Given the description of an element on the screen output the (x, y) to click on. 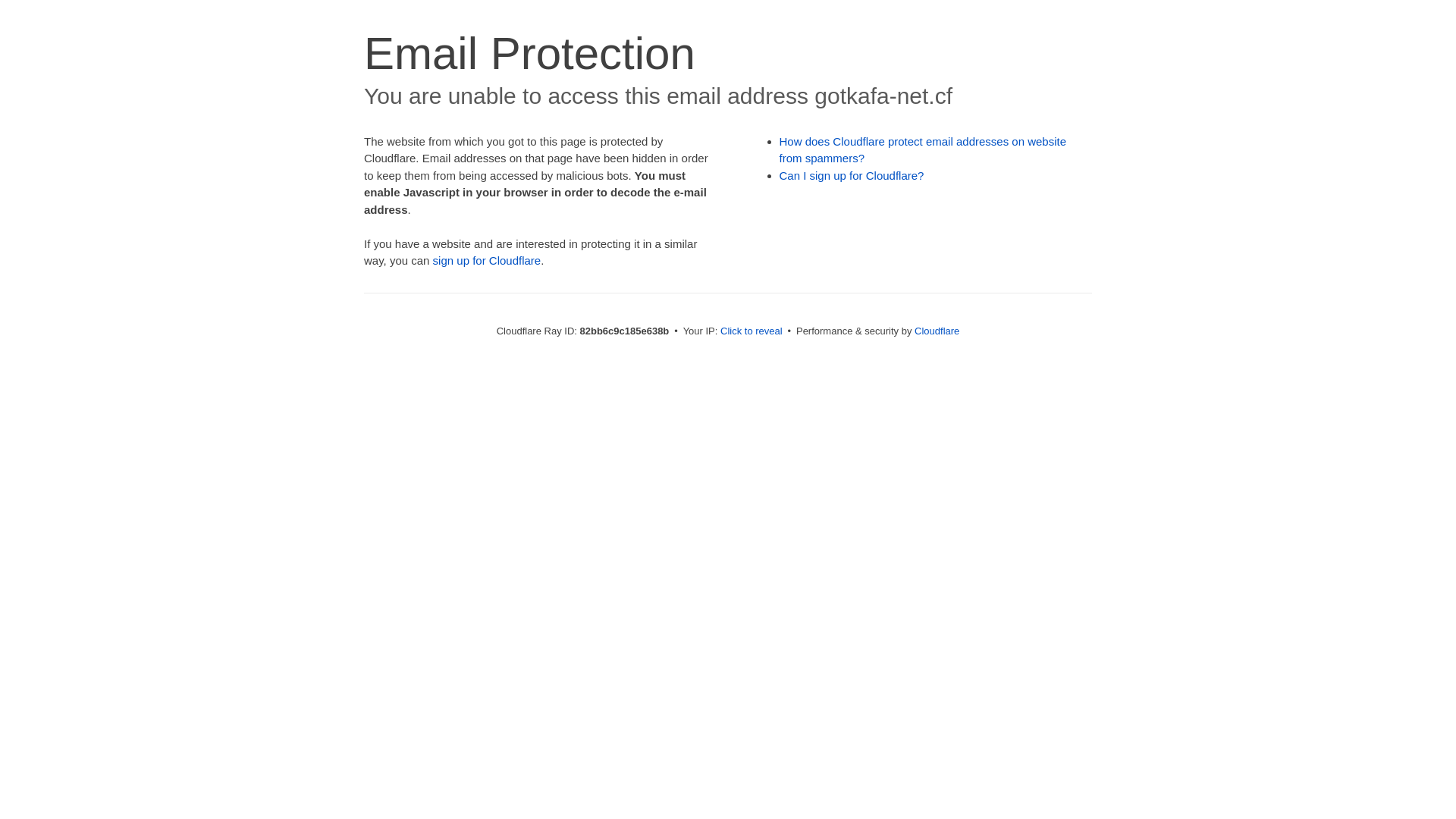
Click to reveal Element type: text (751, 330)
Can I sign up for Cloudflare? Element type: text (851, 175)
Cloudflare Element type: text (936, 330)
sign up for Cloudflare Element type: text (487, 260)
